Given the description of an element on the screen output the (x, y) to click on. 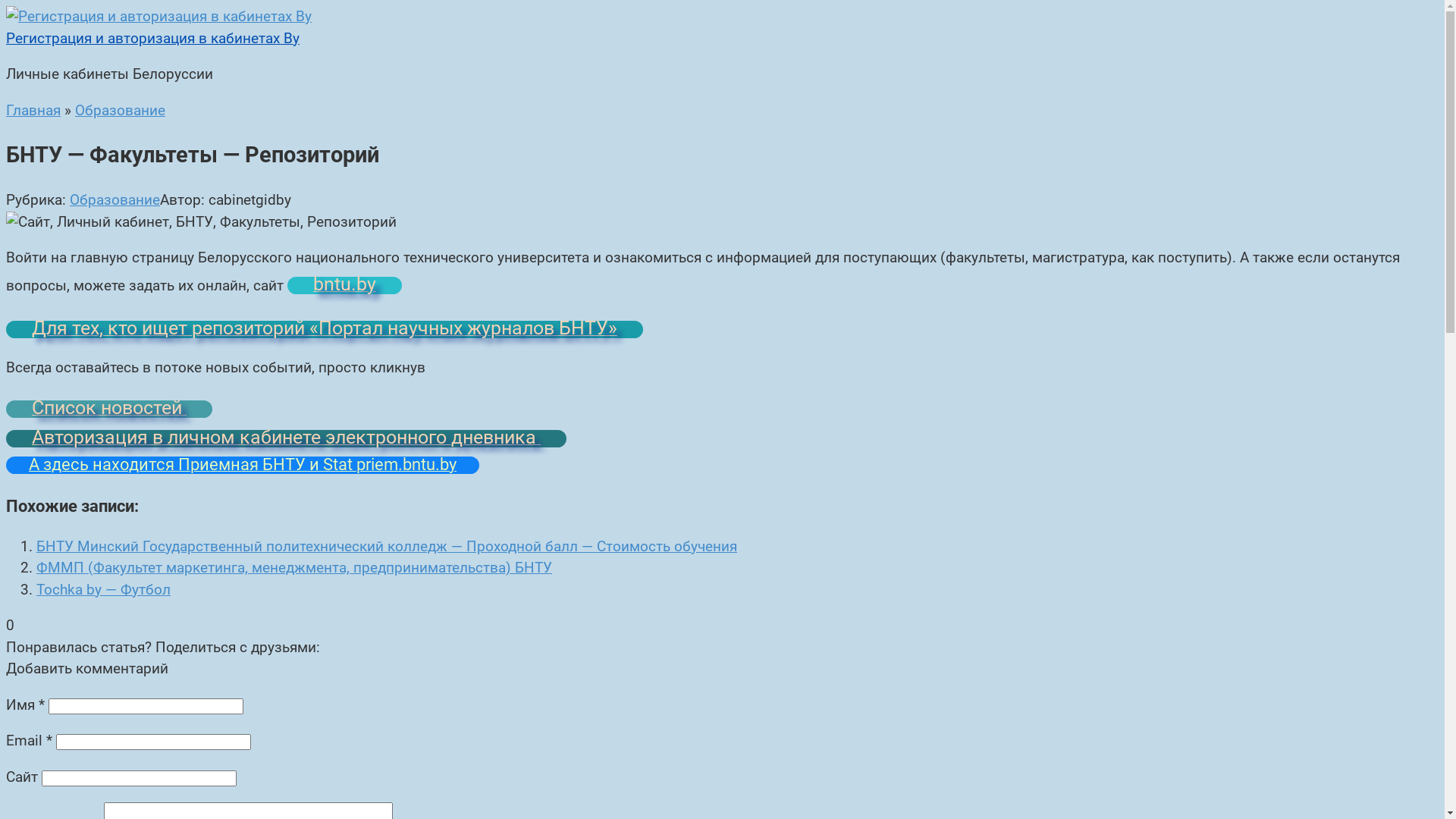
bntu.by Element type: text (344, 285)
